Given the description of an element on the screen output the (x, y) to click on. 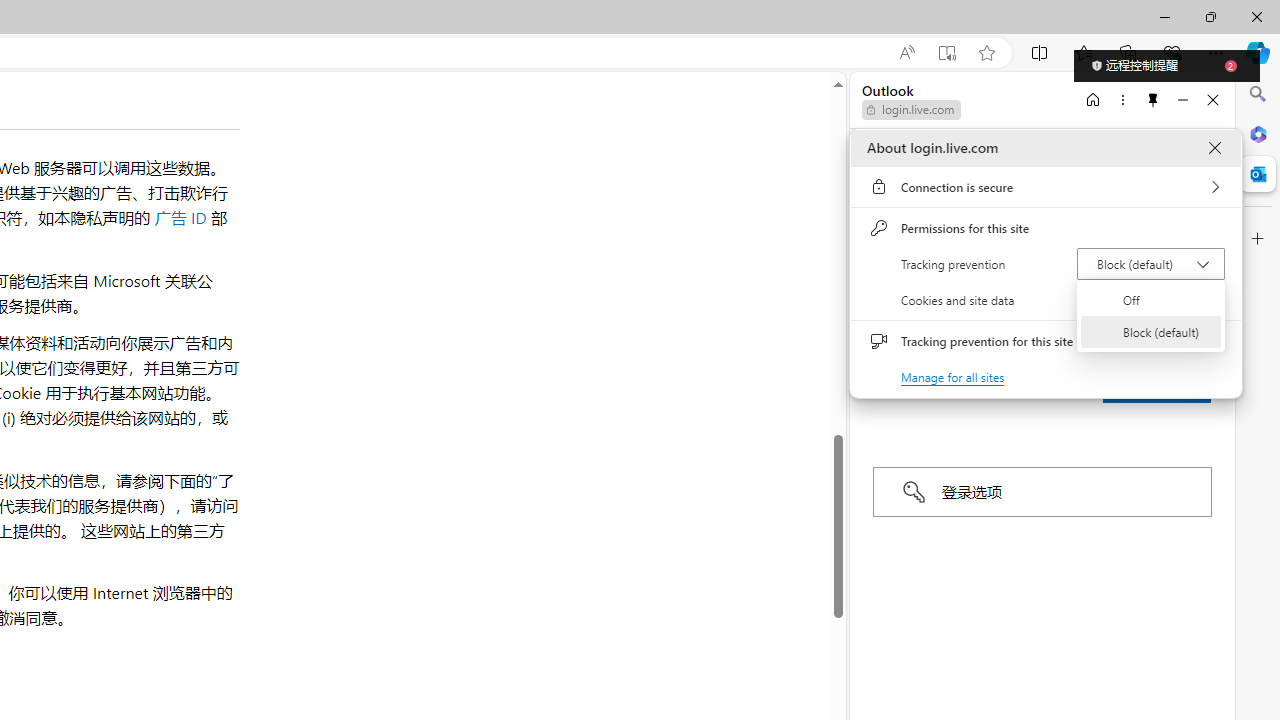
Tracking prevention Block (default) (1150, 263)
Tracking prevention for this site (Balanced) (1204, 341)
Block (default) (1151, 331)
Permissions for this site (1046, 228)
Off (1151, 299)
Close (1214, 147)
Connection is secure (1046, 187)
About login.live.com (1214, 147)
Cookies and site data (1046, 300)
Manage for all sites (952, 376)
